Given the description of an element on the screen output the (x, y) to click on. 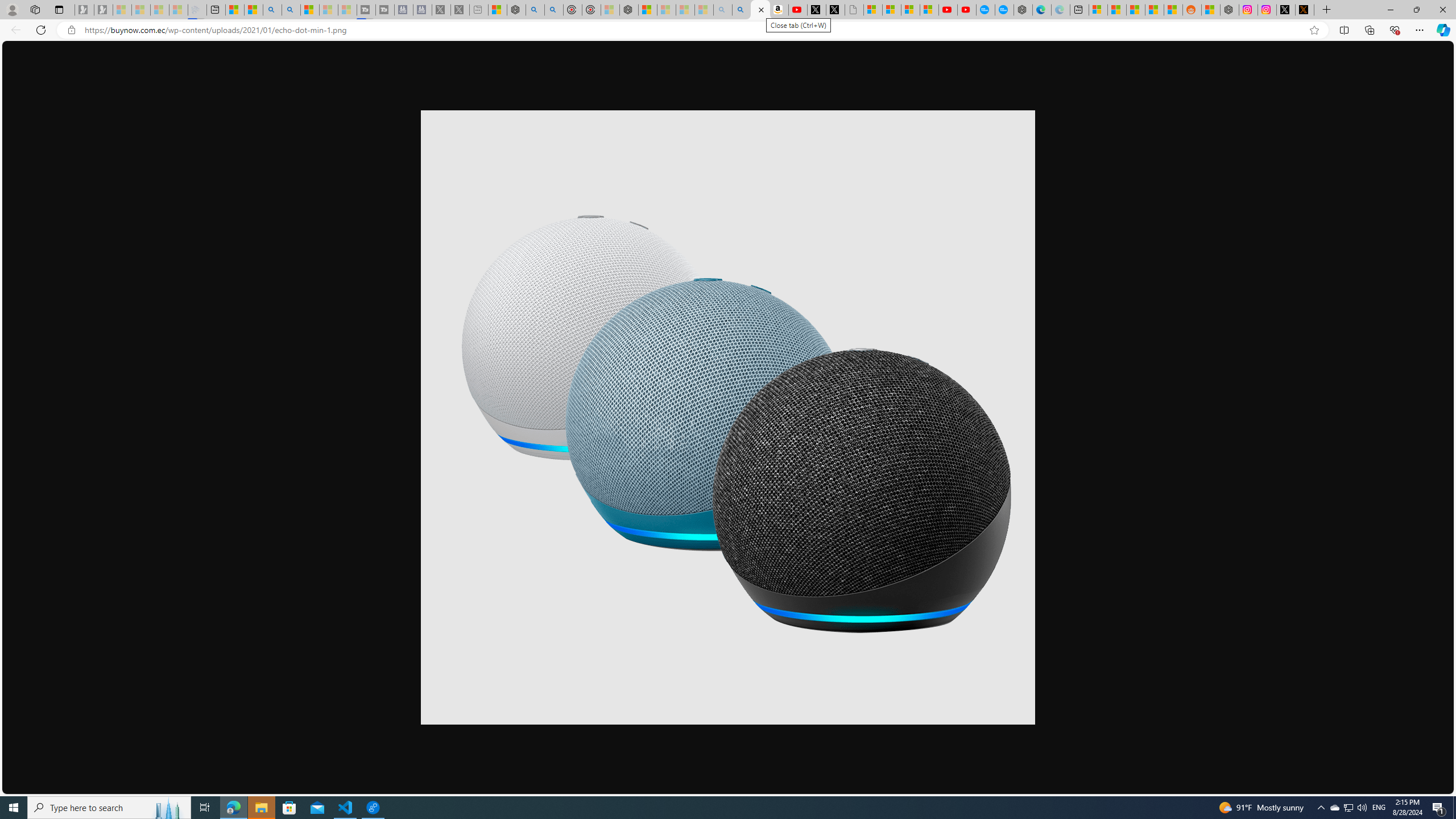
X (835, 9)
poe - Search (534, 9)
Gloom - YouTube (947, 9)
View site information (70, 29)
Address and search bar (692, 29)
help.x.com | 524: A timeout occurred (1304, 9)
Log in to X / X (1285, 9)
poe ++ standard - Search (553, 9)
To get missing image descriptions, open the context menu. (727, 417)
